Given the description of an element on the screen output the (x, y) to click on. 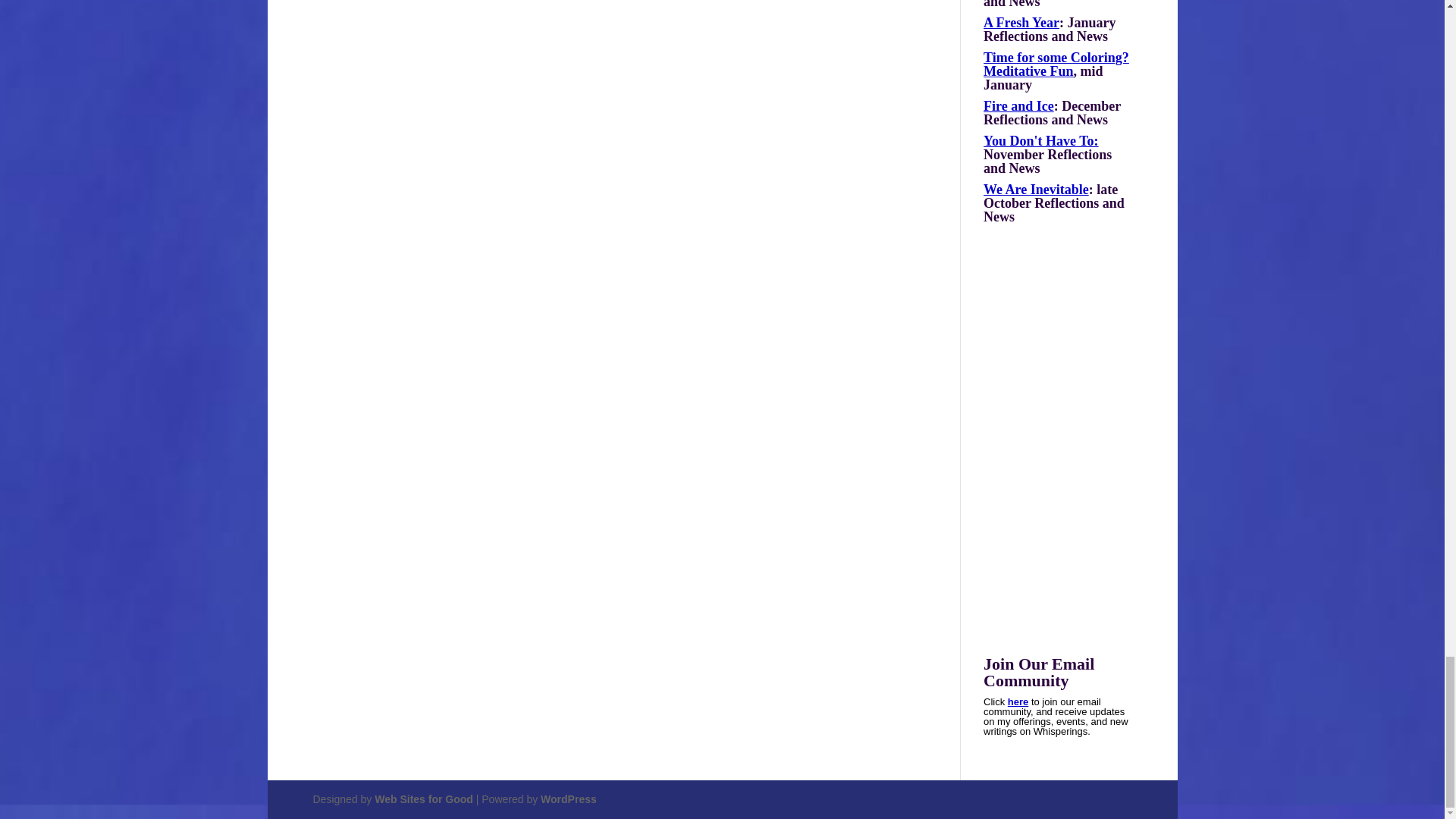
Subscribe (1017, 701)
